Given the description of an element on the screen output the (x, y) to click on. 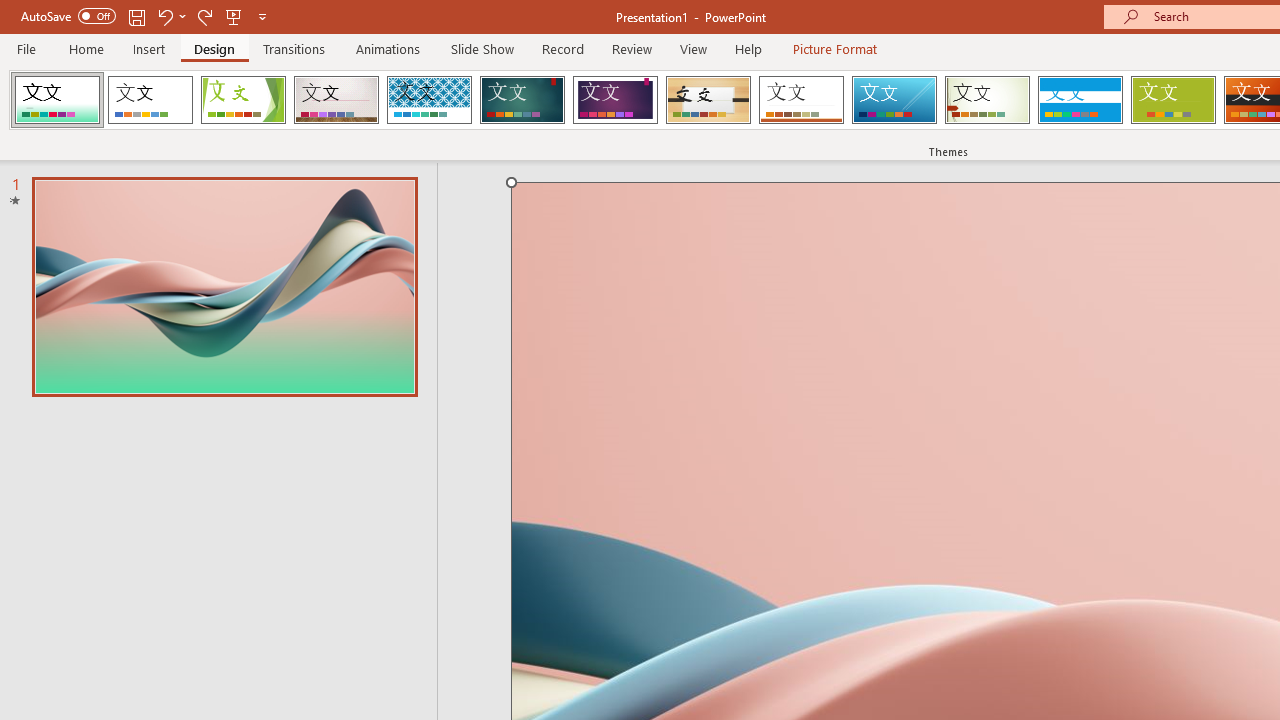
Facet (243, 100)
Integral (429, 100)
Ion Boardroom (615, 100)
Retrospect (801, 100)
AfterglowVTI (57, 100)
Slice (893, 100)
Organic (708, 100)
